Given the description of an element on the screen output the (x, y) to click on. 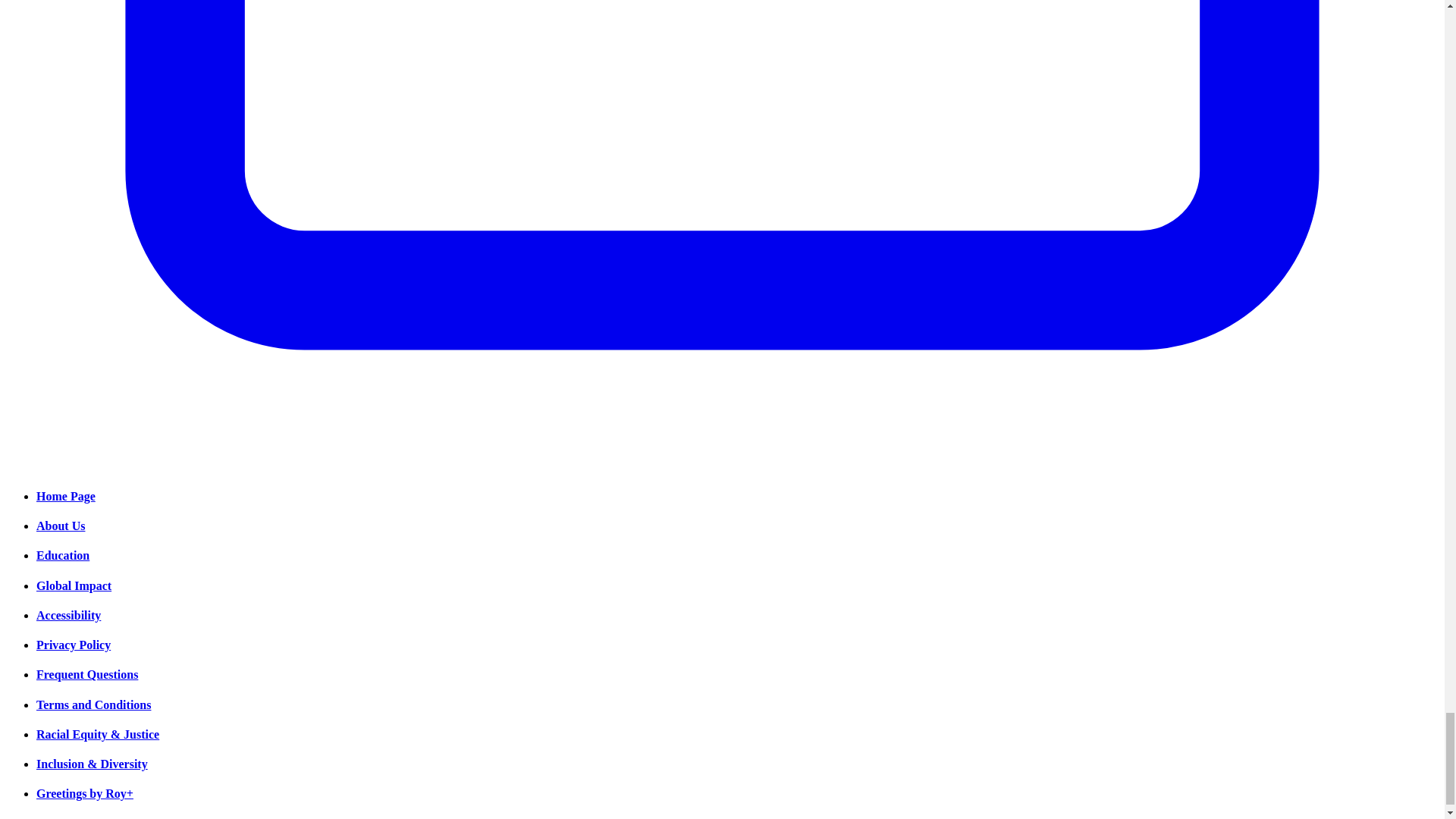
Education (62, 554)
Global Impact (74, 585)
Frequent Questions (87, 674)
Accessibility (68, 615)
Home Page (66, 495)
Privacy Policy (73, 644)
About Us (60, 525)
